Given the description of an element on the screen output the (x, y) to click on. 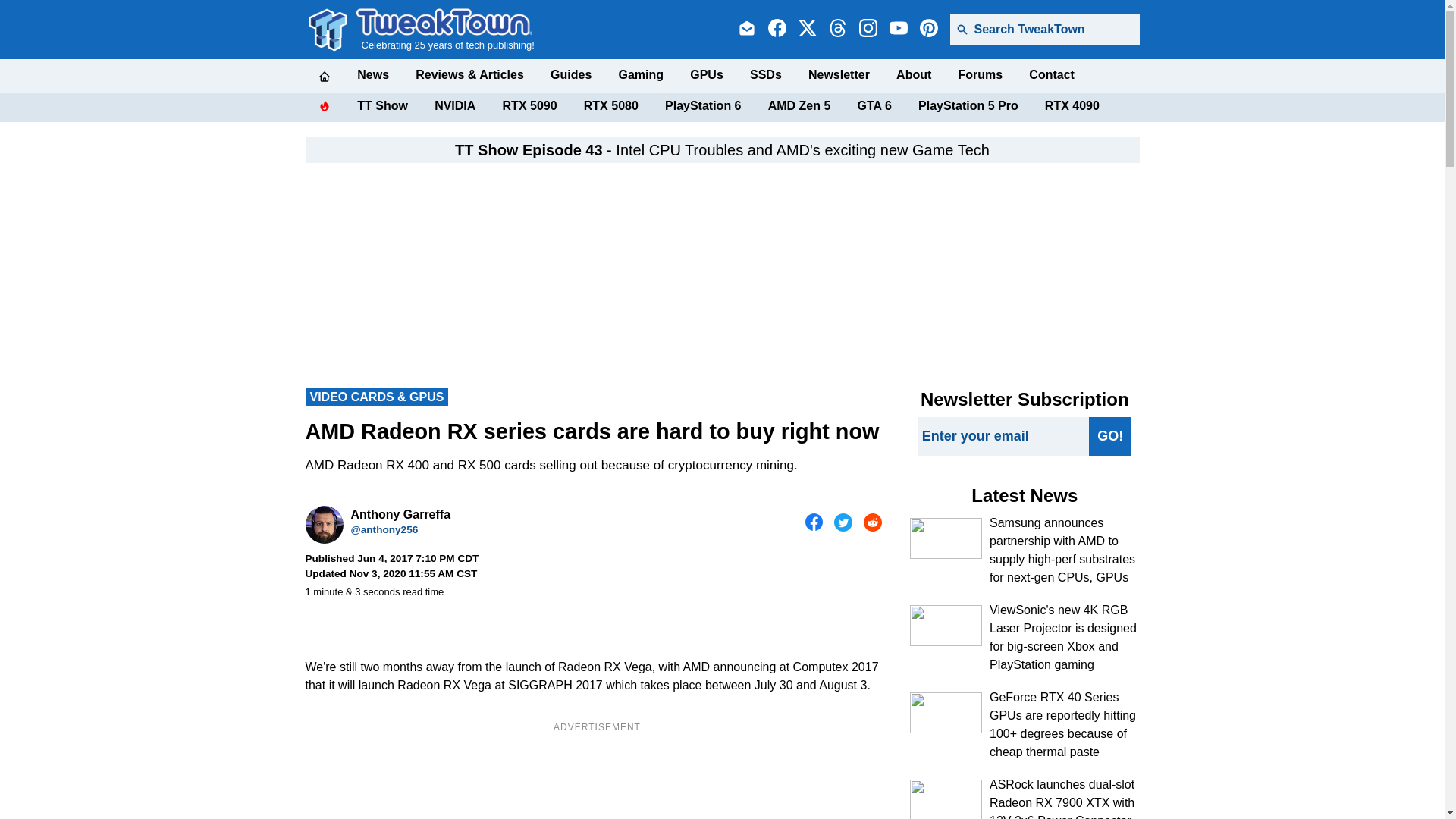
Share on Twitter (842, 522)
GO! (1110, 435)
Share on Reddit (871, 522)
News (372, 74)
Share on Facebook (814, 522)
Celebrating 25 years of tech publishing! (445, 29)
Anthony Garreffa (323, 524)
